Given the description of an element on the screen output the (x, y) to click on. 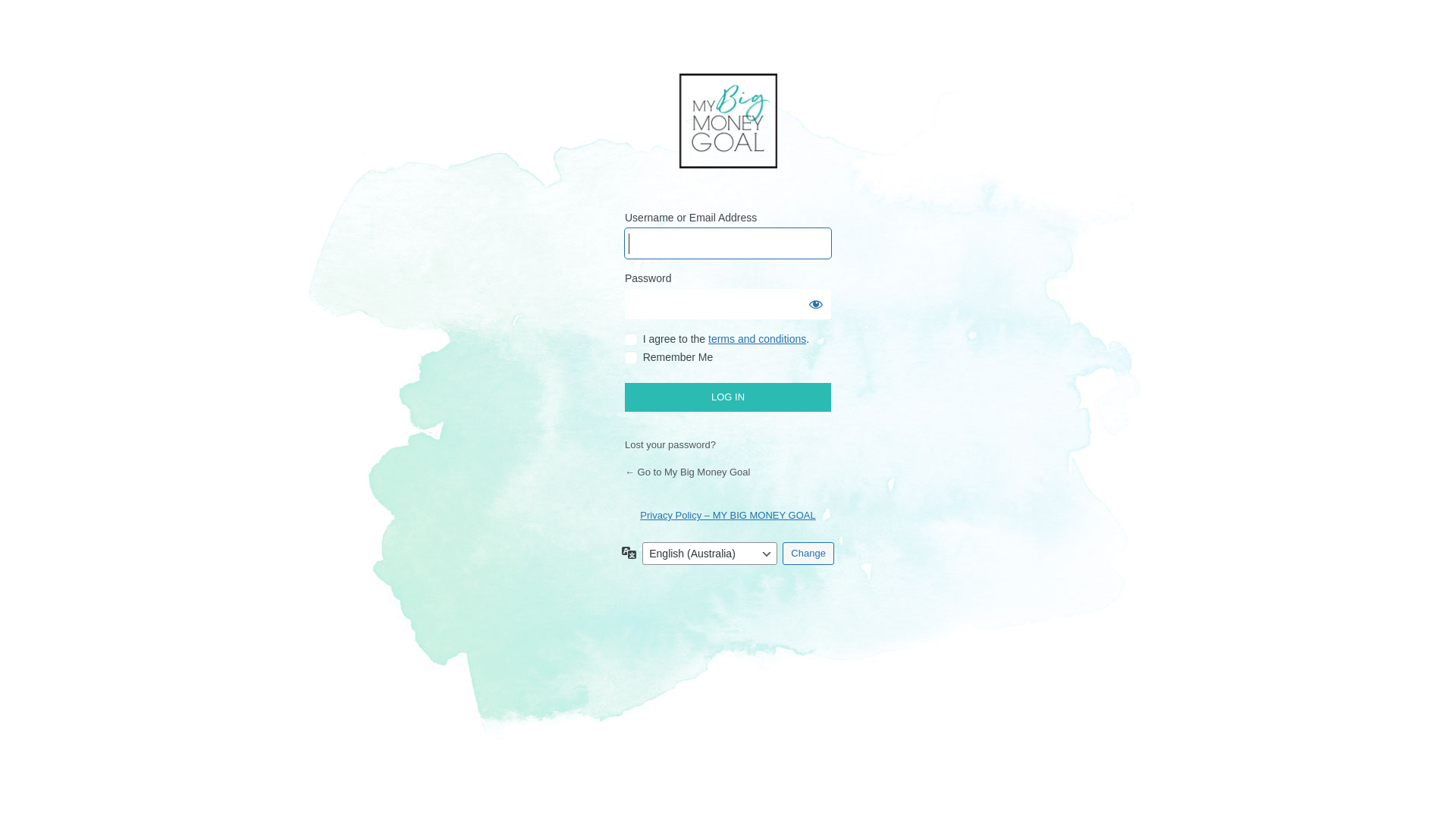
Log In Element type: text (727, 396)
Lost your password? Element type: text (669, 444)
terms and conditions Element type: text (757, 338)
Change Element type: text (808, 553)
My Big Money Goal Online Element type: text (728, 121)
